Given the description of an element on the screen output the (x, y) to click on. 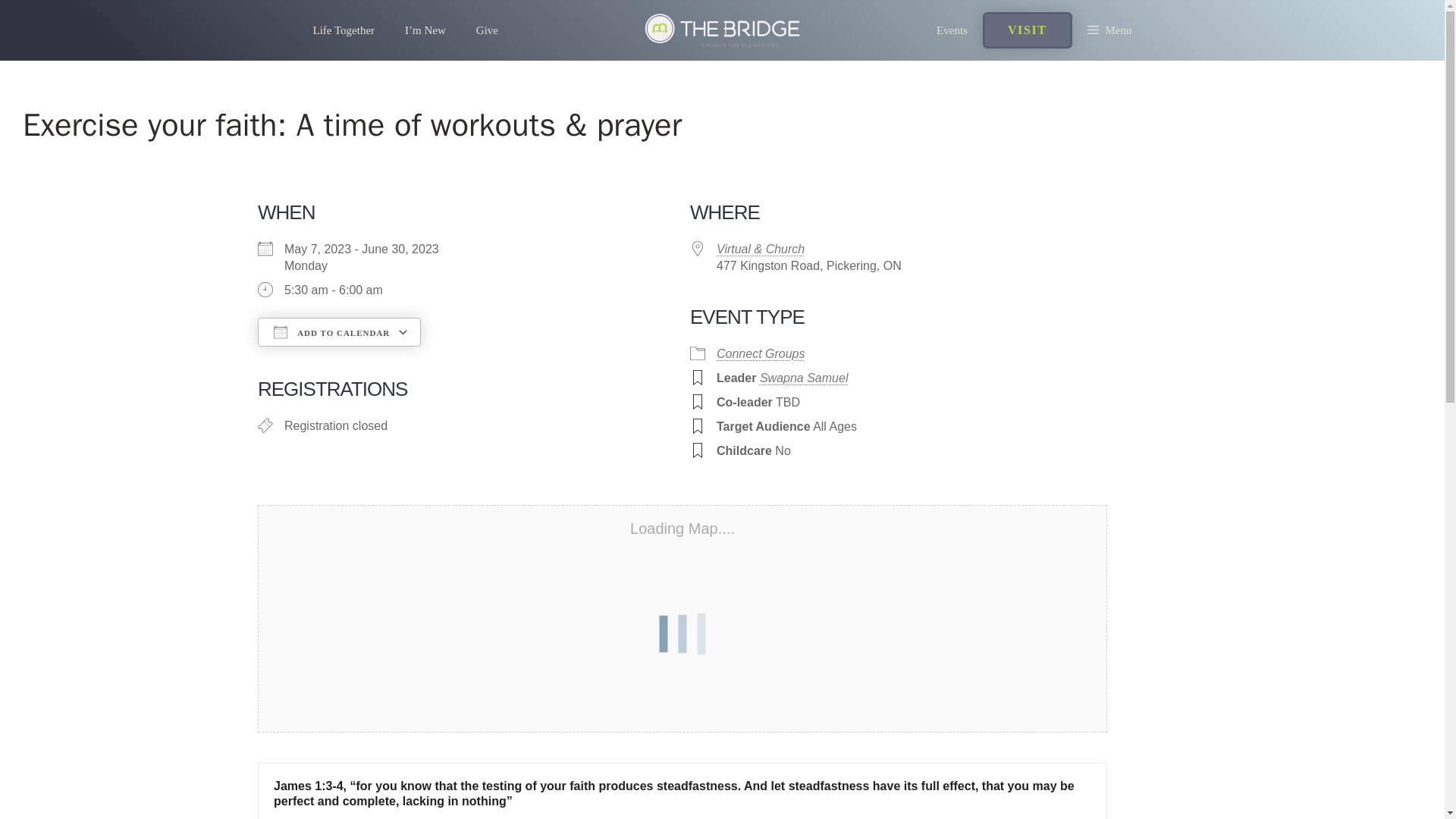
Events (951, 30)
Give (487, 30)
Menu (1109, 30)
ADD TO CALENDAR (338, 331)
Connect Groups (760, 353)
Swapna Samuel (804, 377)
Google Calendar (482, 358)
VISIT (1026, 29)
Life Together (343, 30)
Download ICS (331, 358)
